Given the description of an element on the screen output the (x, y) to click on. 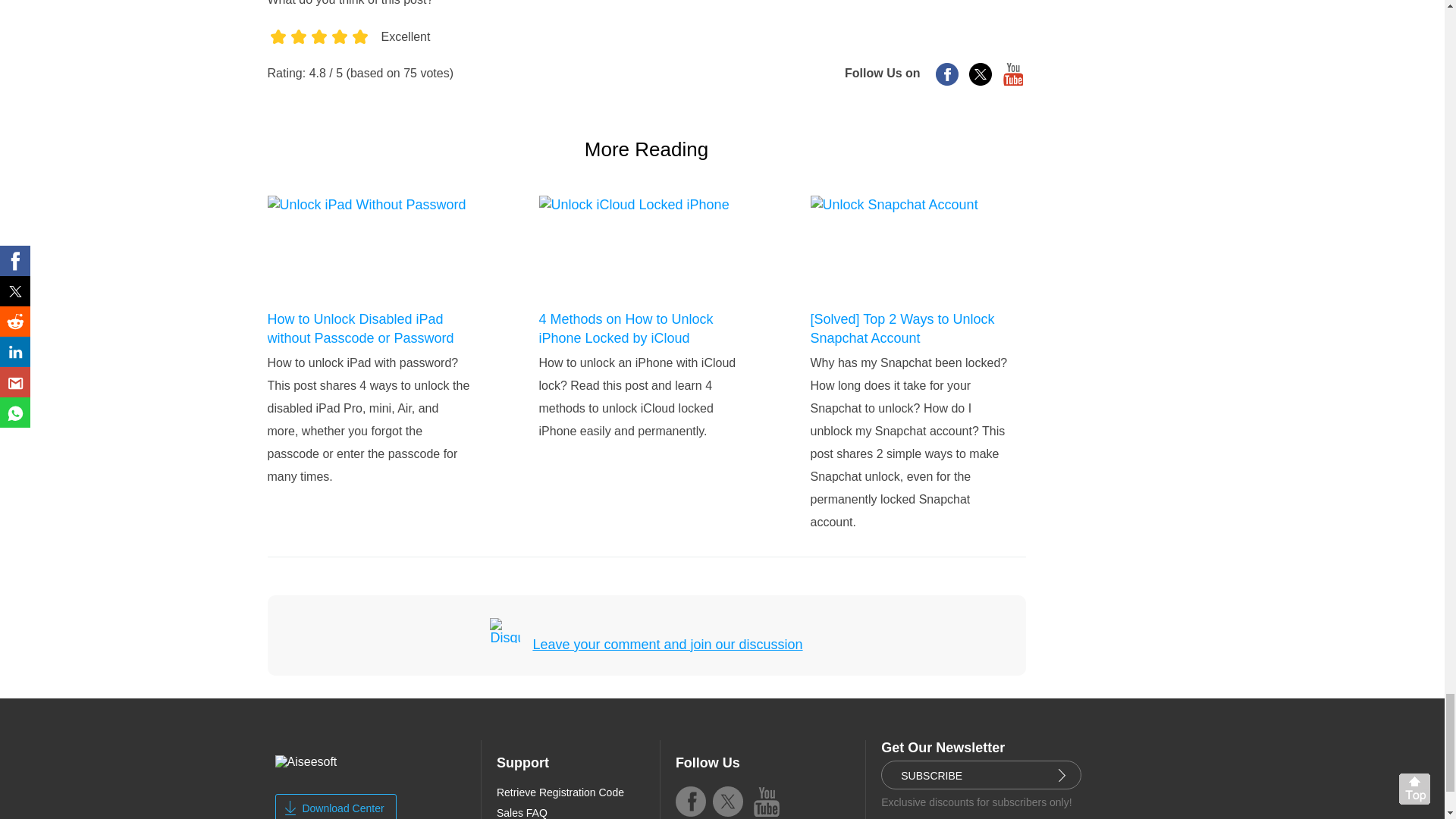
2 (298, 51)
3 (318, 51)
5 (359, 51)
How to Unlock Disabled iPad without Passcode or Password (368, 329)
4 Methods on How to Unlock iPhone Locked by iCloud (640, 329)
1 (276, 51)
4 (339, 51)
